Given the description of an element on the screen output the (x, y) to click on. 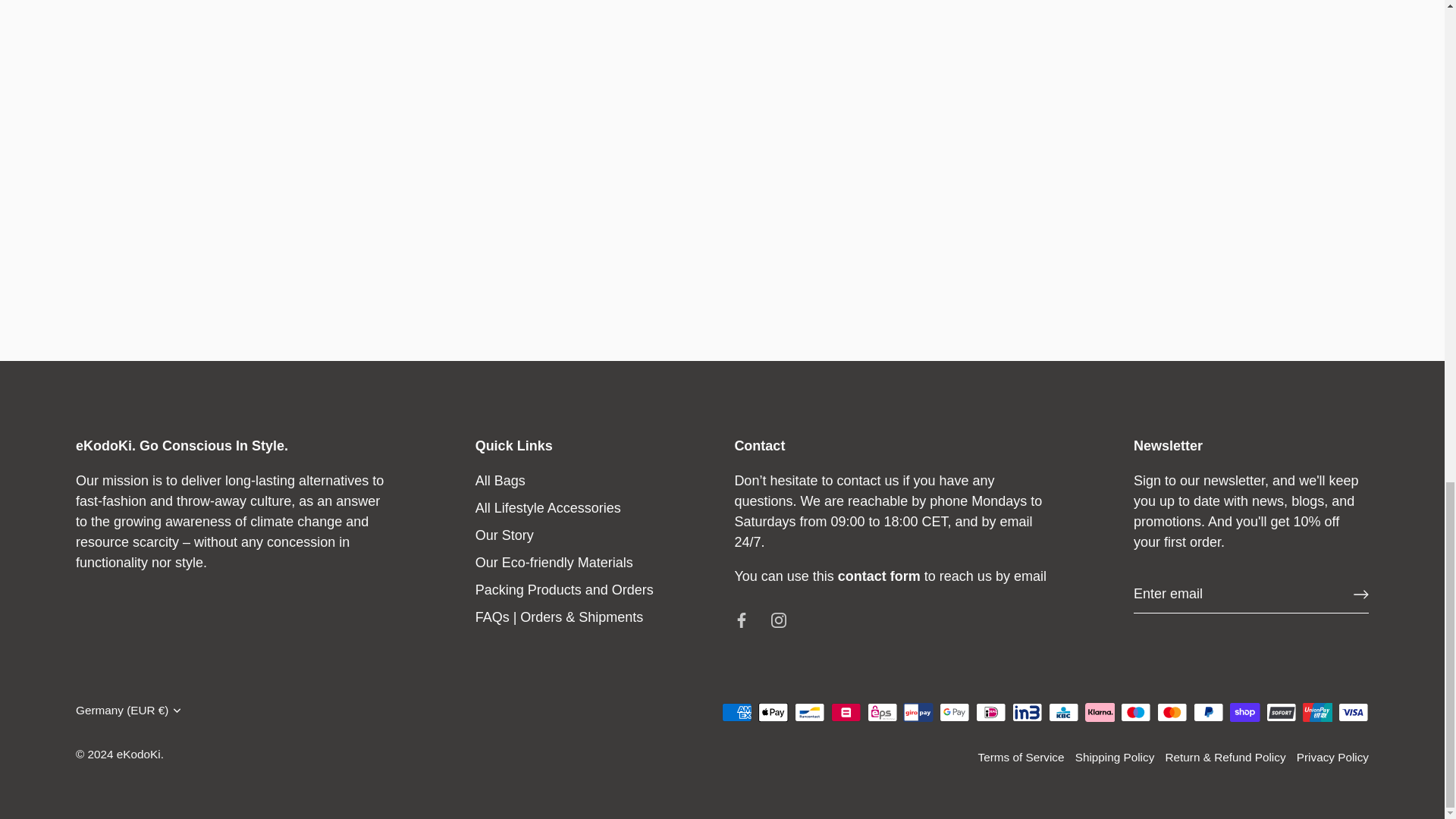
Maestro (1135, 711)
American Express (736, 711)
Mastercard (1171, 711)
EPS (881, 711)
in3 (1026, 711)
Shop Pay (1244, 711)
Google Pay (954, 711)
Giropay (917, 711)
Klarna (1099, 711)
Instagram (778, 620)
